Given the description of an element on the screen output the (x, y) to click on. 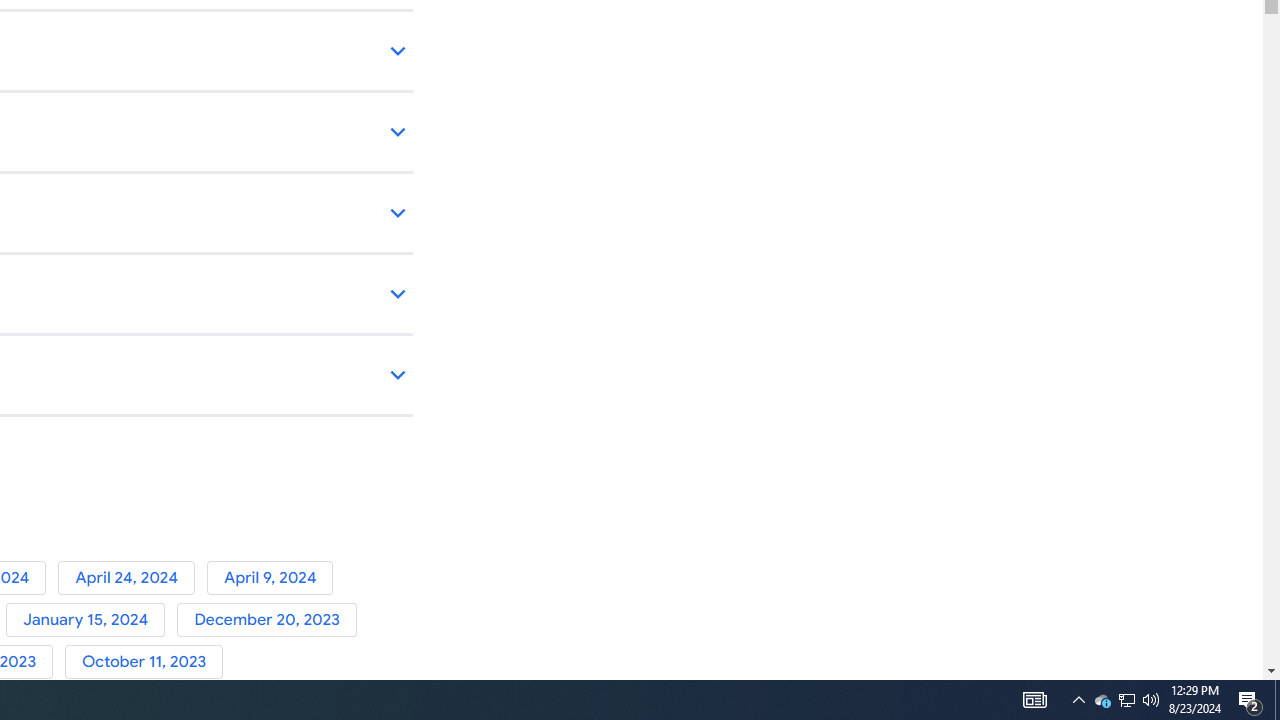
January 15, 2024 (91, 620)
April 9, 2024 (273, 577)
April 24, 2024 (132, 577)
October 11, 2023 (147, 661)
December 20, 2023 (270, 620)
